Given the description of an element on the screen output the (x, y) to click on. 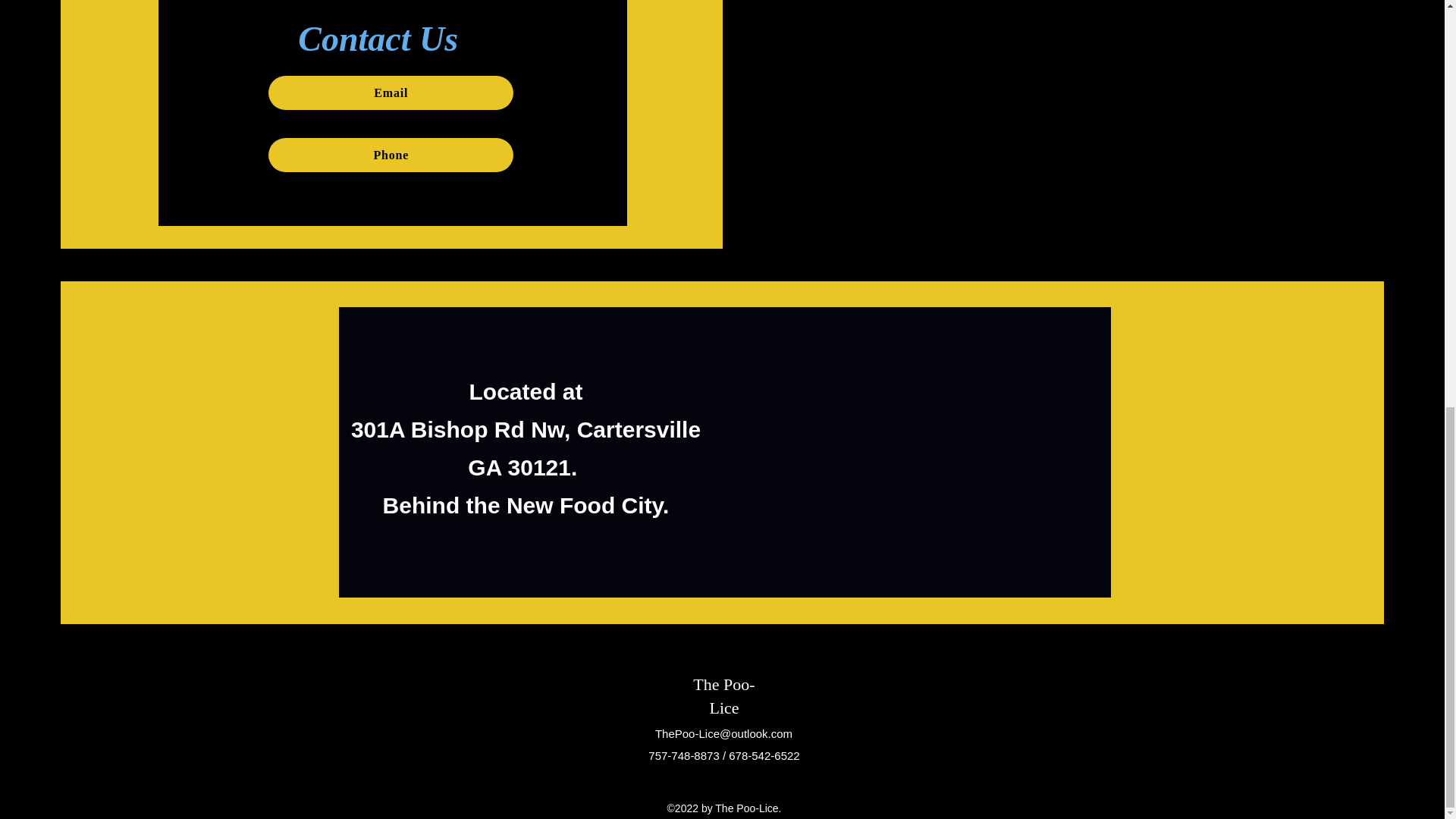
The Poo-Lice (723, 695)
Email (390, 92)
Phone (390, 154)
